Given the description of an element on the screen output the (x, y) to click on. 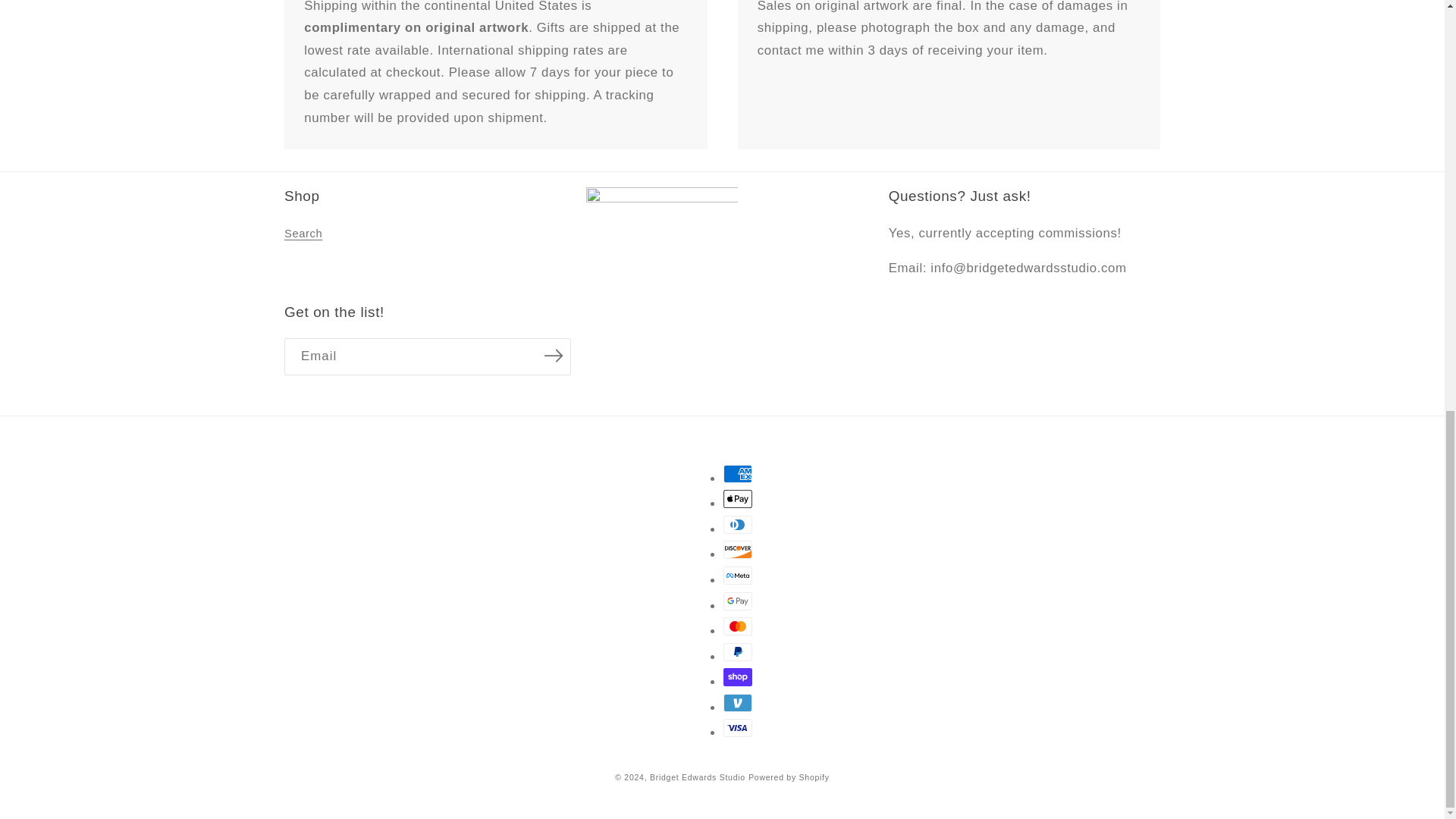
PayPal (737, 651)
American Express (737, 474)
Venmo (737, 702)
Discover (737, 549)
Google Pay (737, 601)
Mastercard (737, 626)
Apple Pay (737, 498)
Meta Pay (737, 575)
Diners Club (737, 524)
Shop Pay (737, 677)
